Given the description of an element on the screen output the (x, y) to click on. 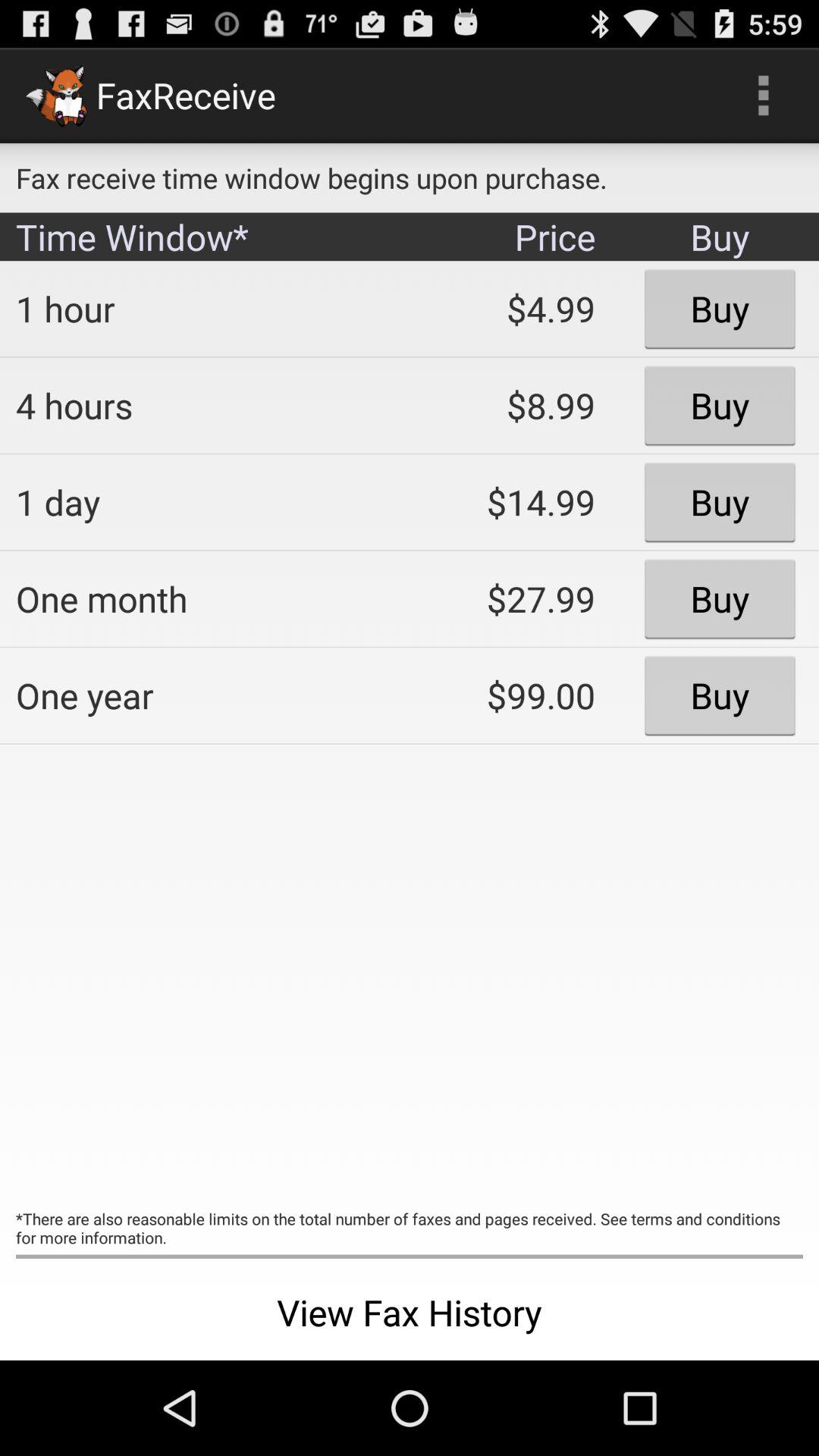
turn off the item to the right of the fax receive time item (763, 95)
